Given the description of an element on the screen output the (x, y) to click on. 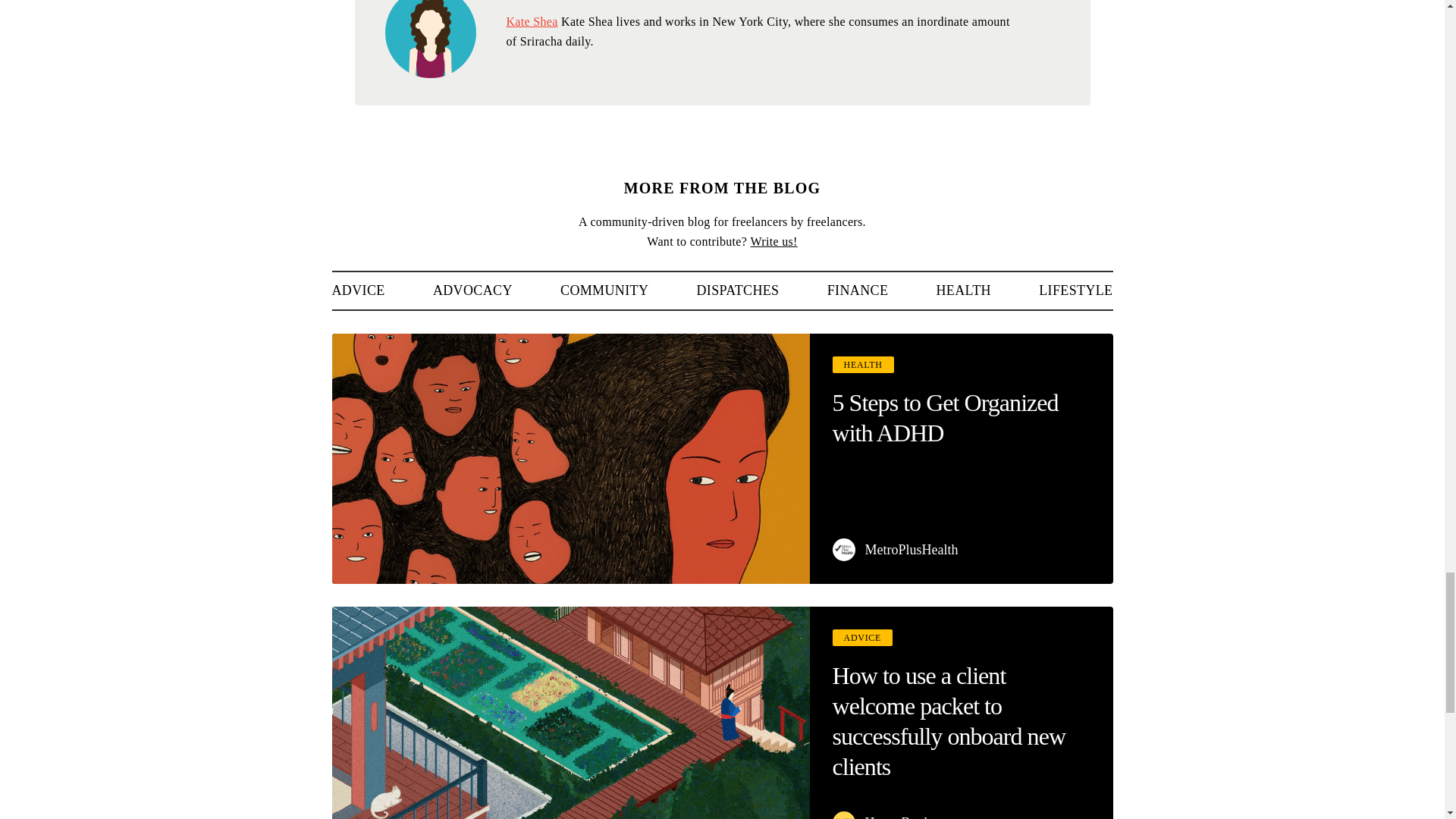
Kate Shea (531, 21)
ADVICE (358, 290)
Write us! (772, 241)
